Given the description of an element on the screen output the (x, y) to click on. 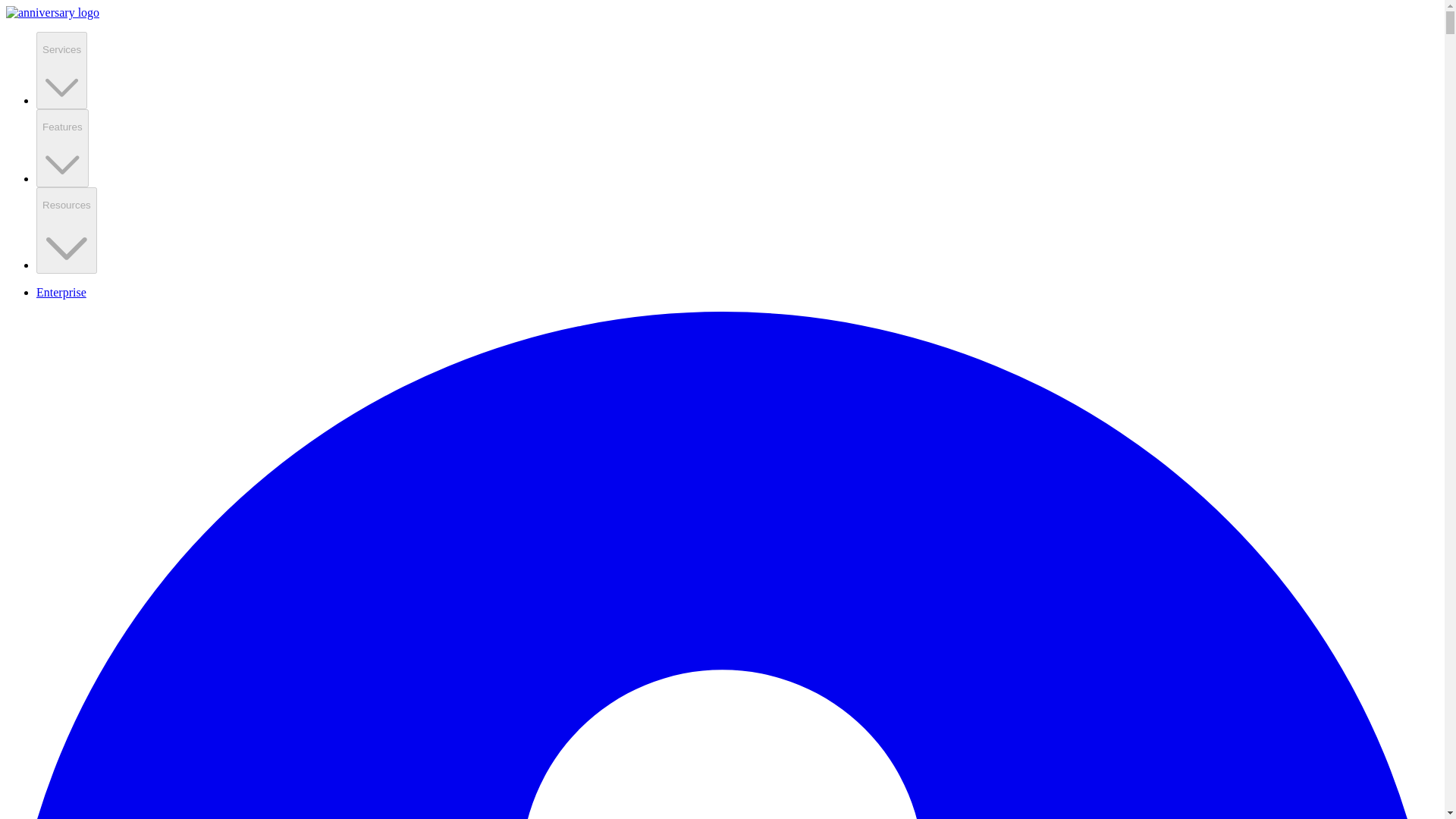
Features (62, 147)
Resources (66, 230)
Services (61, 69)
